Given the description of an element on the screen output the (x, y) to click on. 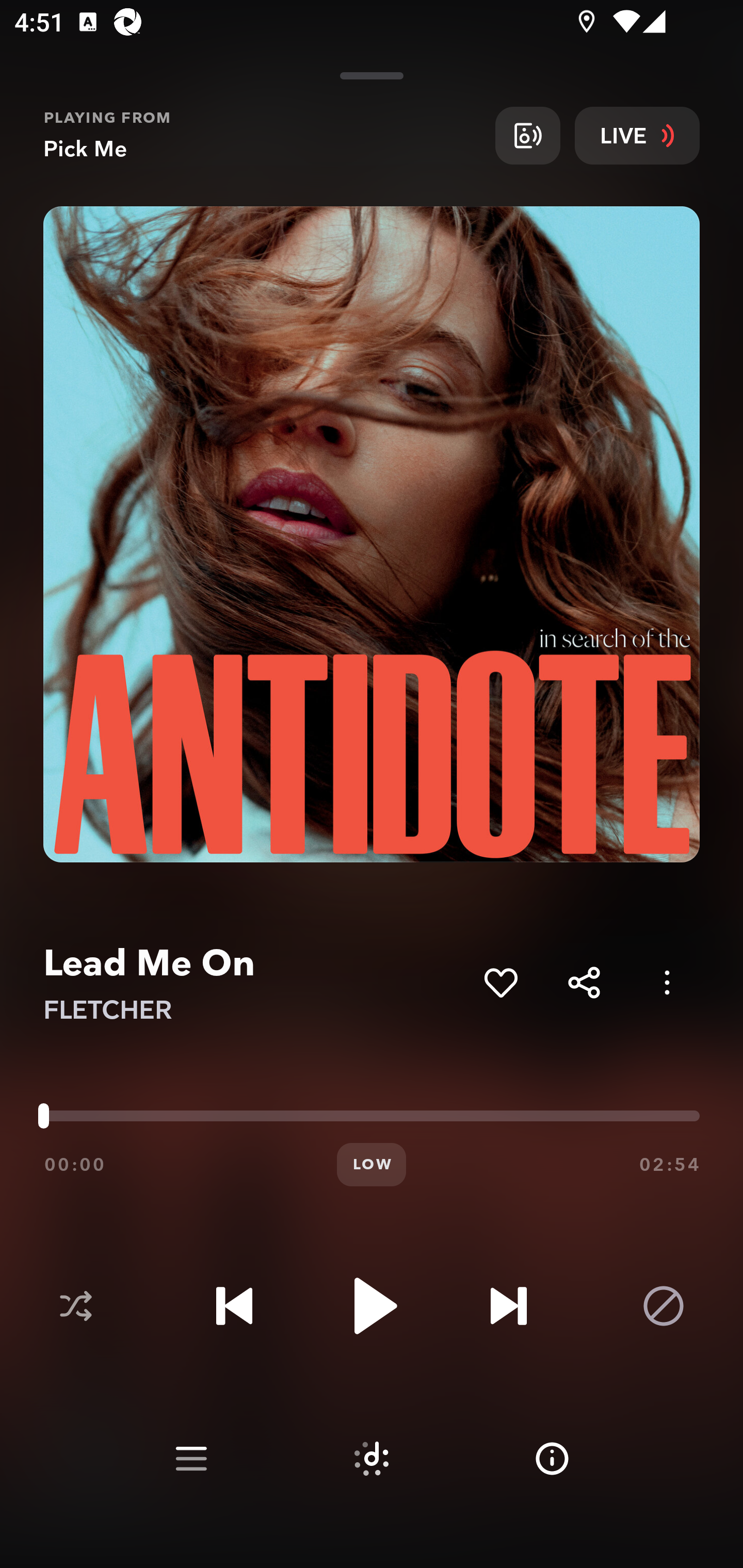
Broadcast (527, 135)
LIVE (637, 135)
PLAYING FROM Pick Me (261, 135)
Lead Me On FLETCHER (255, 983)
Add to My Collection (500, 982)
Share (583, 982)
Options (666, 982)
LOW (371, 1164)
Play (371, 1306)
Previous (234, 1306)
Next (508, 1306)
Block (663, 1306)
Shuffle disabled (75, 1306)
Play queue (191, 1458)
Suggested tracks (371, 1458)
Info (551, 1458)
